Given the description of an element on the screen output the (x, y) to click on. 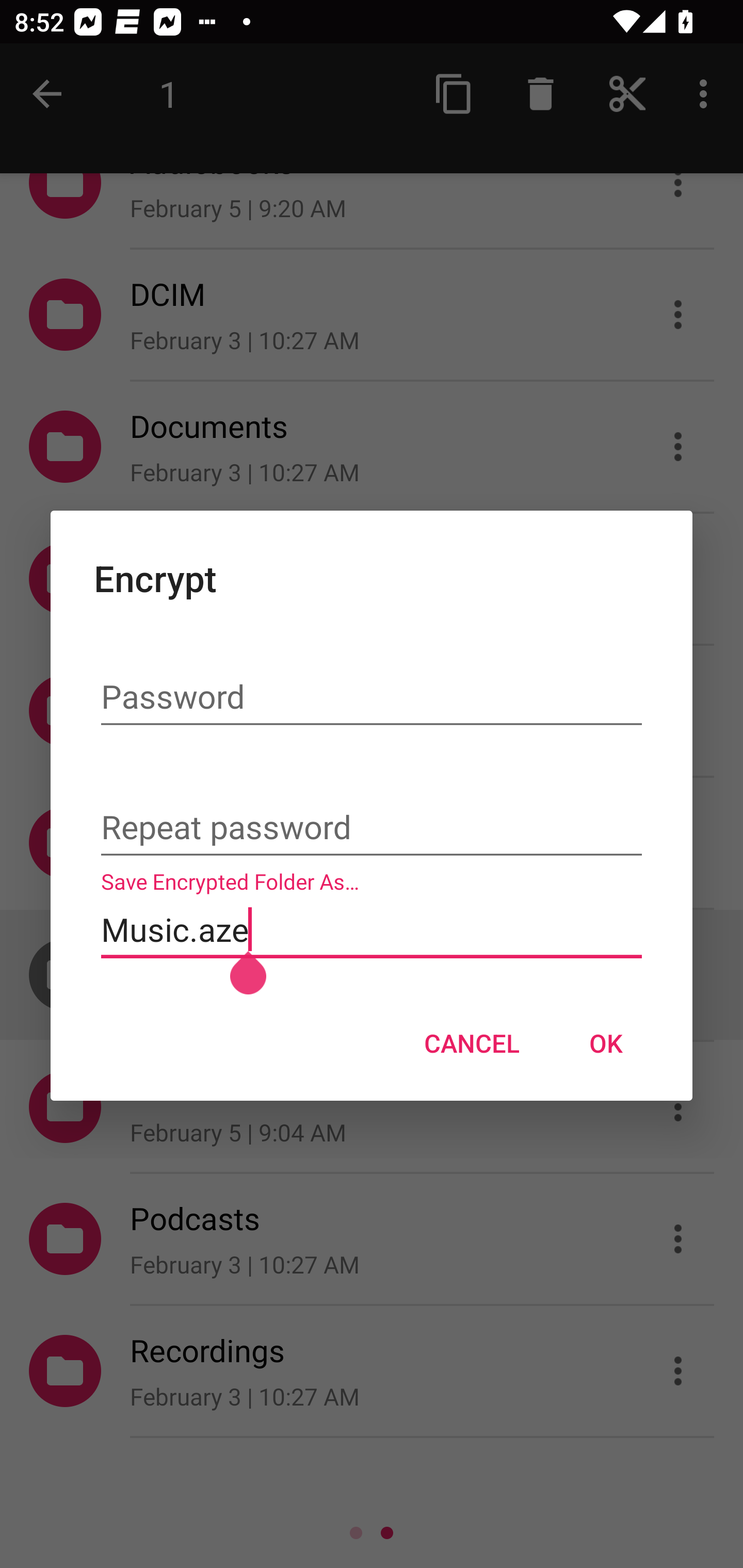
Password (371, 697)
Repeat password (371, 829)
Music.aze (371, 929)
CANCEL (470, 1043)
OK (605, 1043)
